Given the description of an element on the screen output the (x, y) to click on. 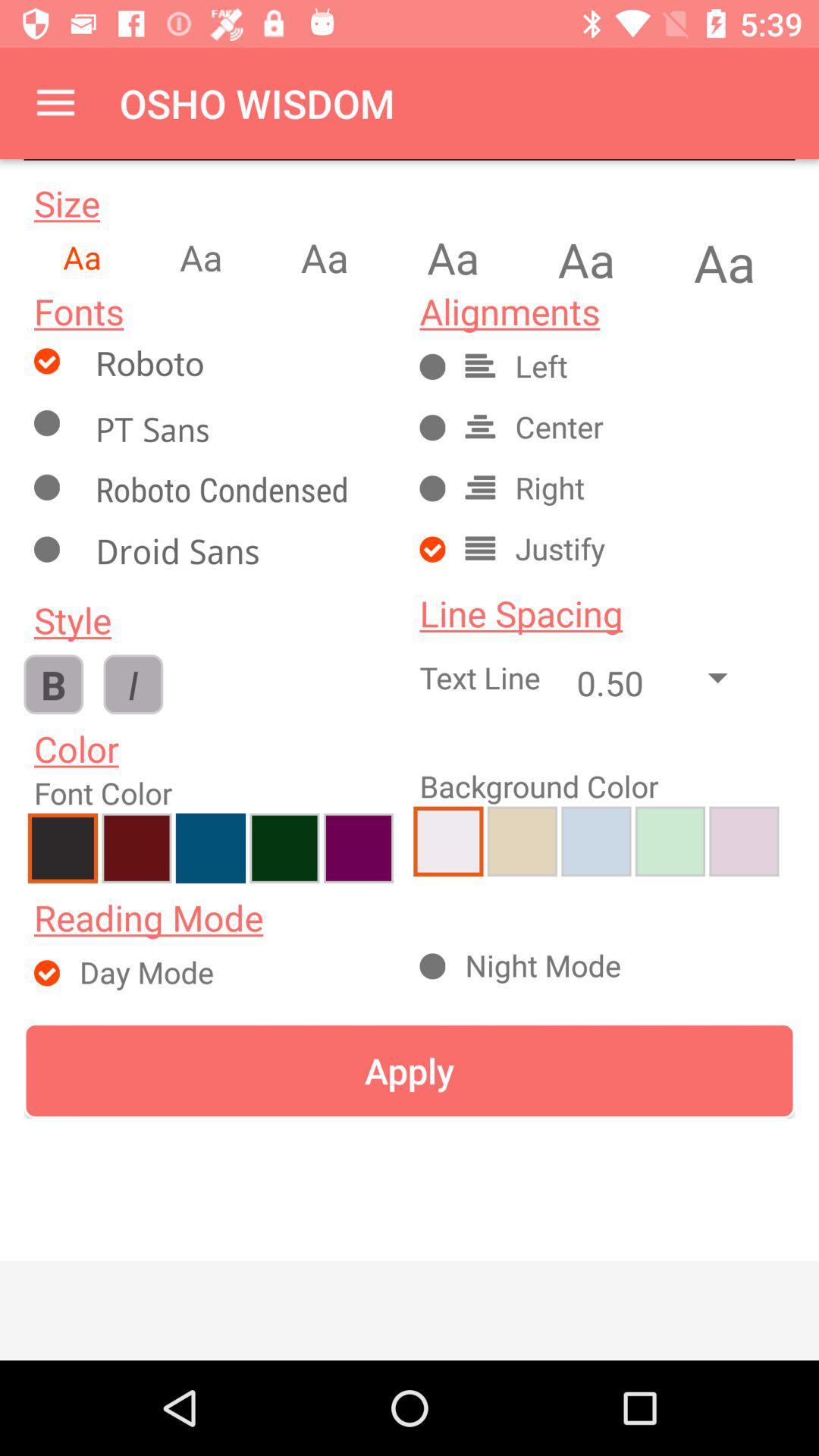
color selection (136, 848)
